Given the description of an element on the screen output the (x, y) to click on. 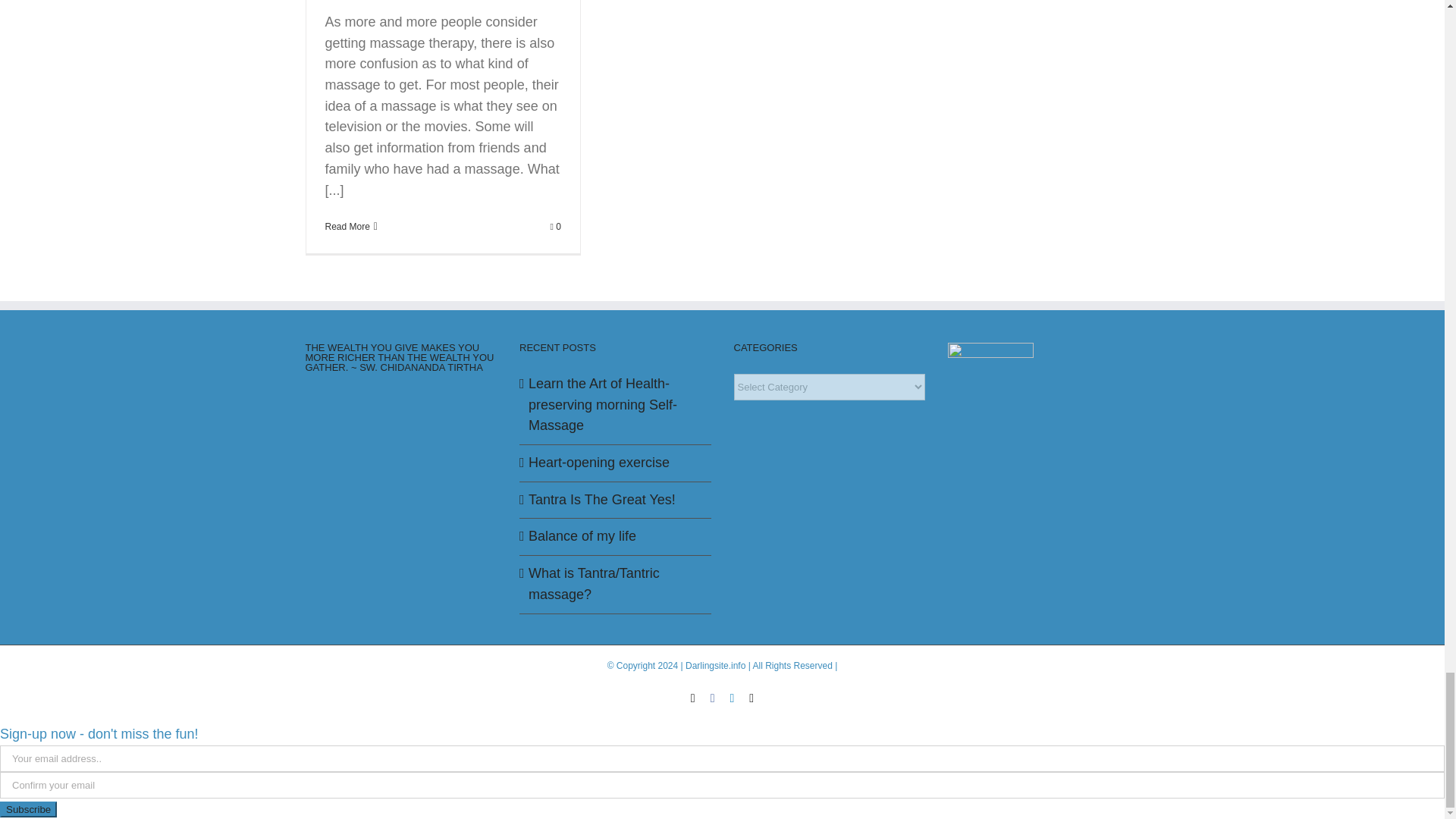
Subscribe (28, 808)
